Given the description of an element on the screen output the (x, y) to click on. 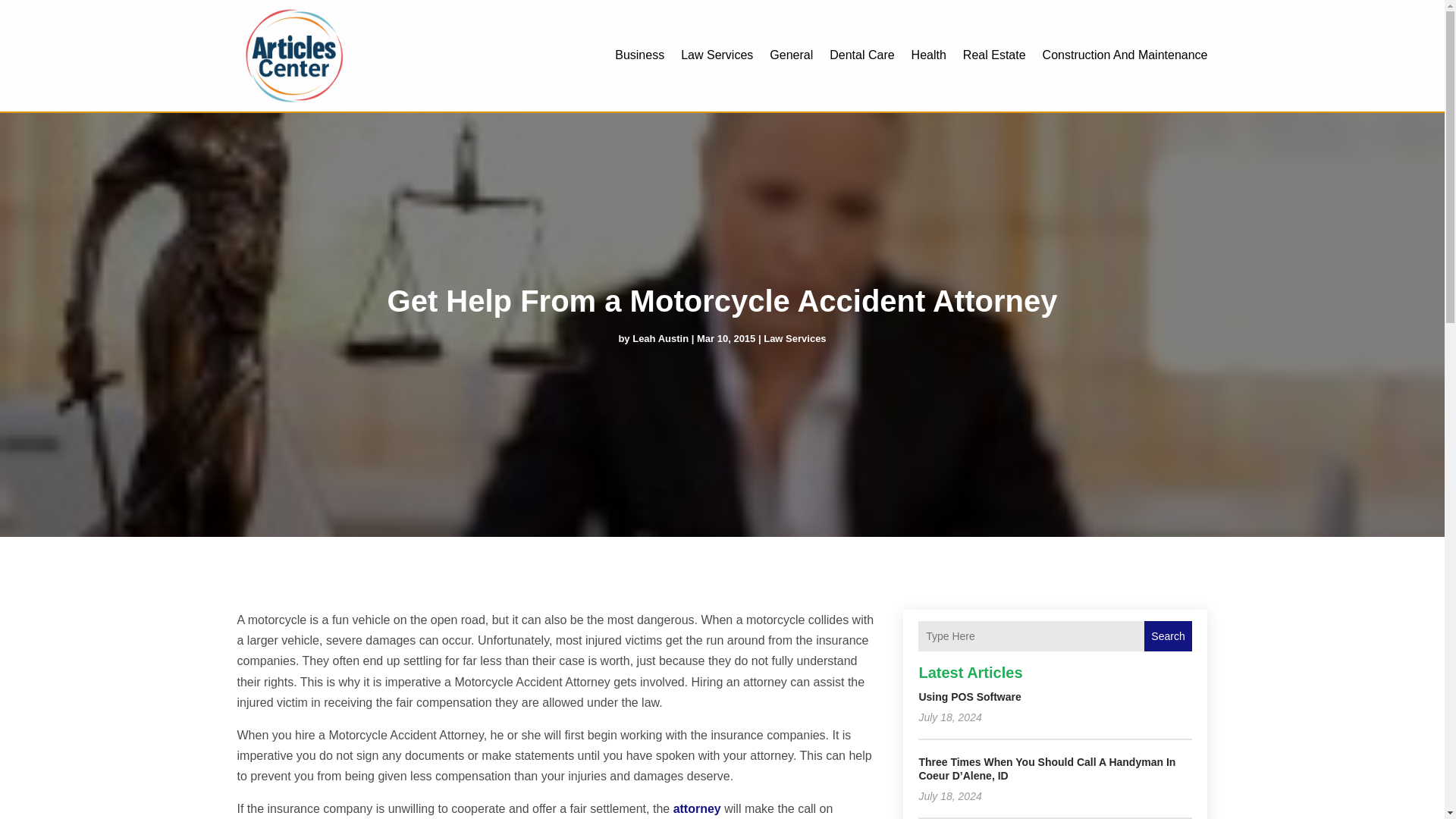
Search (1168, 635)
Leah Austin (659, 337)
Using POS Software (969, 696)
Construction And Maintenance (1125, 55)
Law Services (793, 337)
Posts by Leah Austin (659, 337)
attorney (696, 808)
